Given the description of an element on the screen output the (x, y) to click on. 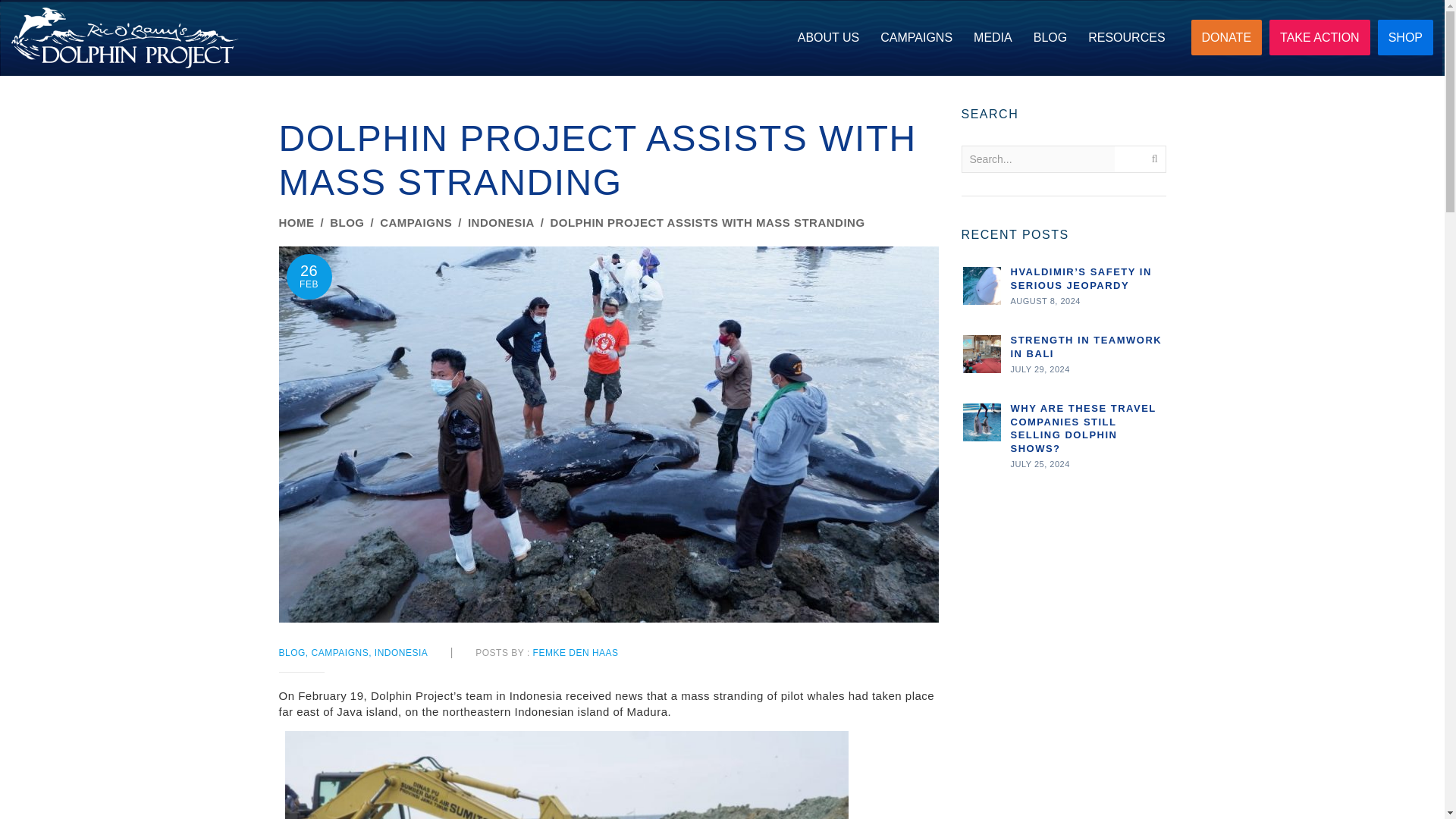
ABOUT US (828, 38)
Search... (1036, 158)
DONATE (1226, 37)
Dolphin Project (124, 37)
CAMPAIGNS (915, 38)
SHOP (1404, 37)
TAKE ACTION (1319, 37)
RESOURCES (1125, 38)
